Given the description of an element on the screen output the (x, y) to click on. 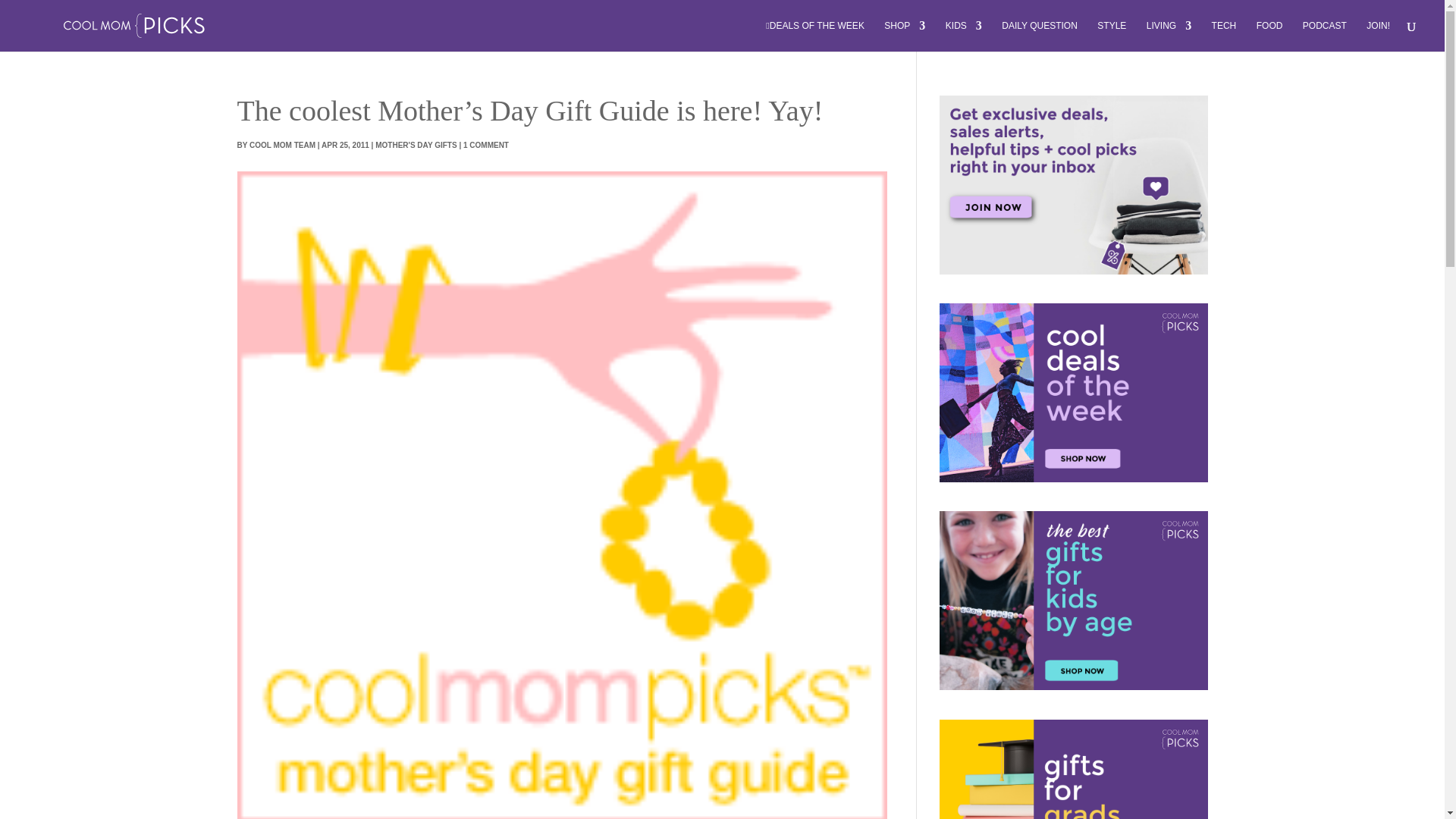
KIDS (962, 35)
SHOP (903, 35)
Our Ultimate Kids Gift Guide: The Best Gifts By Age (1073, 600)
PODCAST (1324, 35)
STYLE (1111, 35)
Posts by Cool Mom Team (281, 144)
DAILY QUESTION (1039, 35)
LIVING (1169, 35)
